Given the description of an element on the screen output the (x, y) to click on. 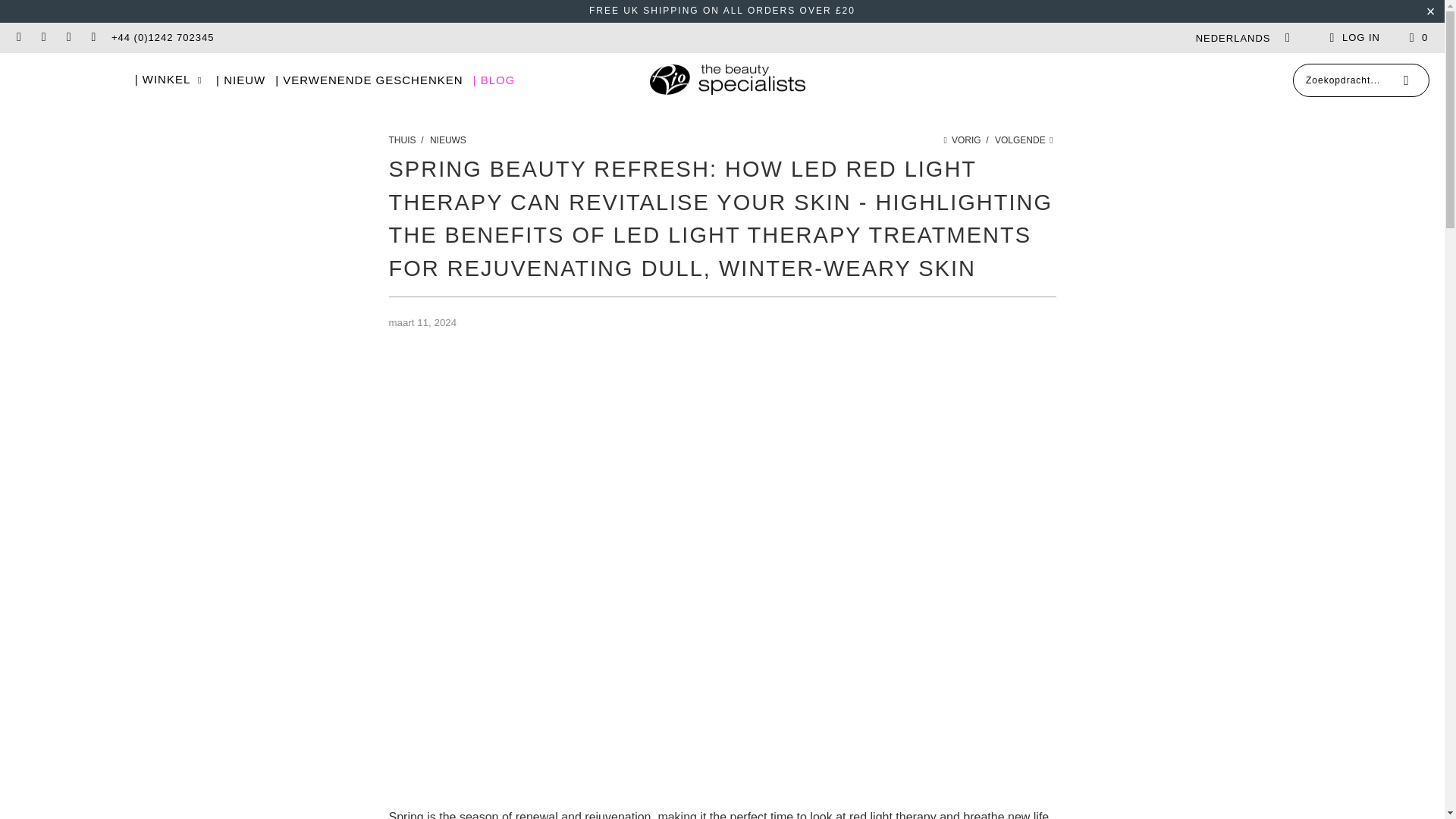
Rio the Beauty Specialists on YouTube (92, 37)
Rio the Beauty Specialists (402, 140)
Mijn rekening  (1352, 37)
Rio the Beauty Specialists on Instagram (68, 37)
Email Rio the Beauty Specialists (17, 37)
Rio the Beauty Specialists on Facebook (42, 37)
Rio the Beauty Specialists (727, 80)
Nieuws (447, 140)
red light therapy (892, 814)
